Given the description of an element on the screen output the (x, y) to click on. 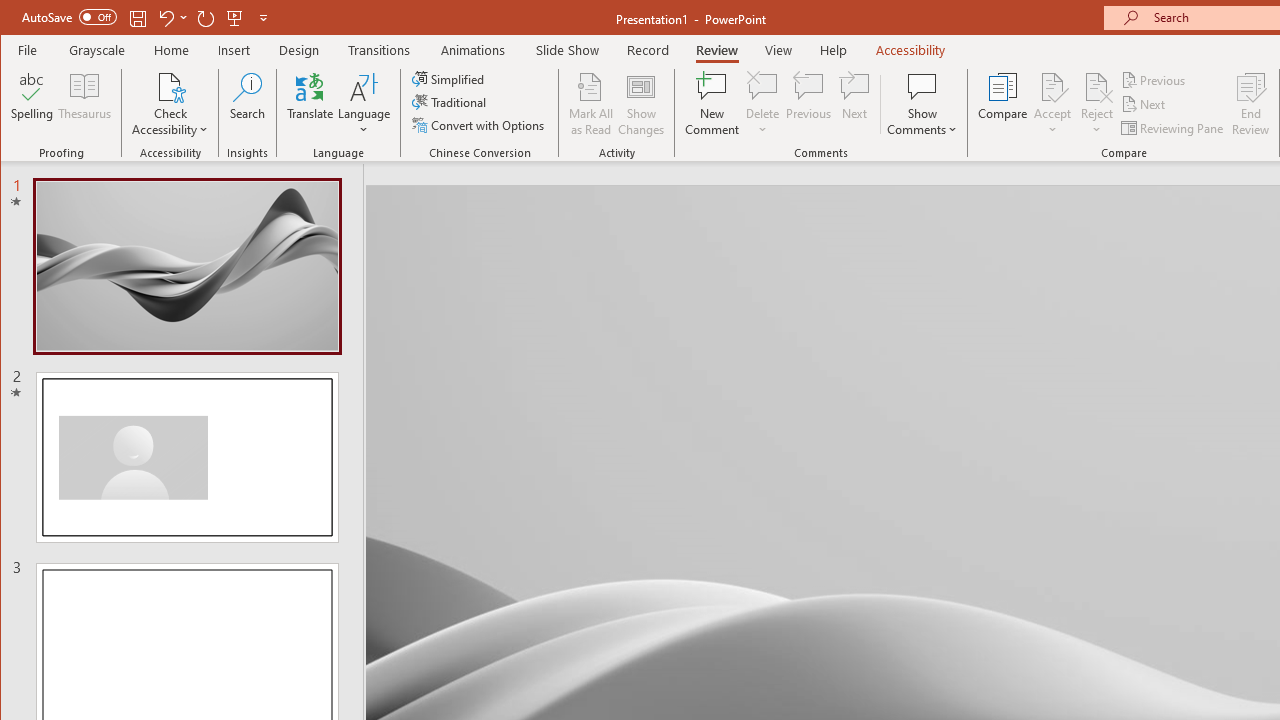
Convert with Options... (479, 124)
Next (1144, 103)
Simplified (450, 78)
Reject Change (1096, 86)
Thesaurus... (84, 104)
